Given the description of an element on the screen output the (x, y) to click on. 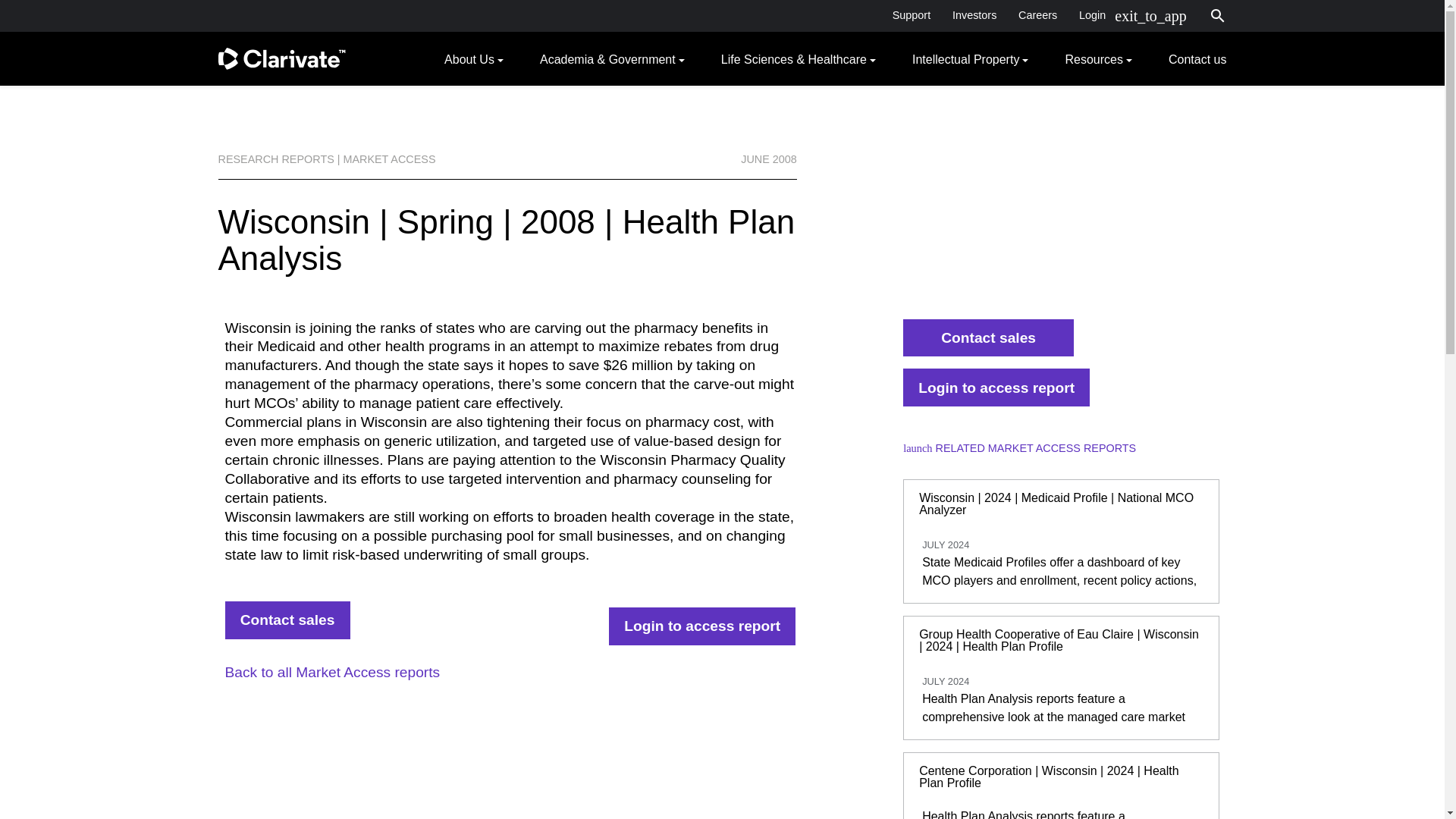
Support (910, 15)
Investors (974, 15)
Careers (1037, 15)
About Us (473, 58)
